Given the description of an element on the screen output the (x, y) to click on. 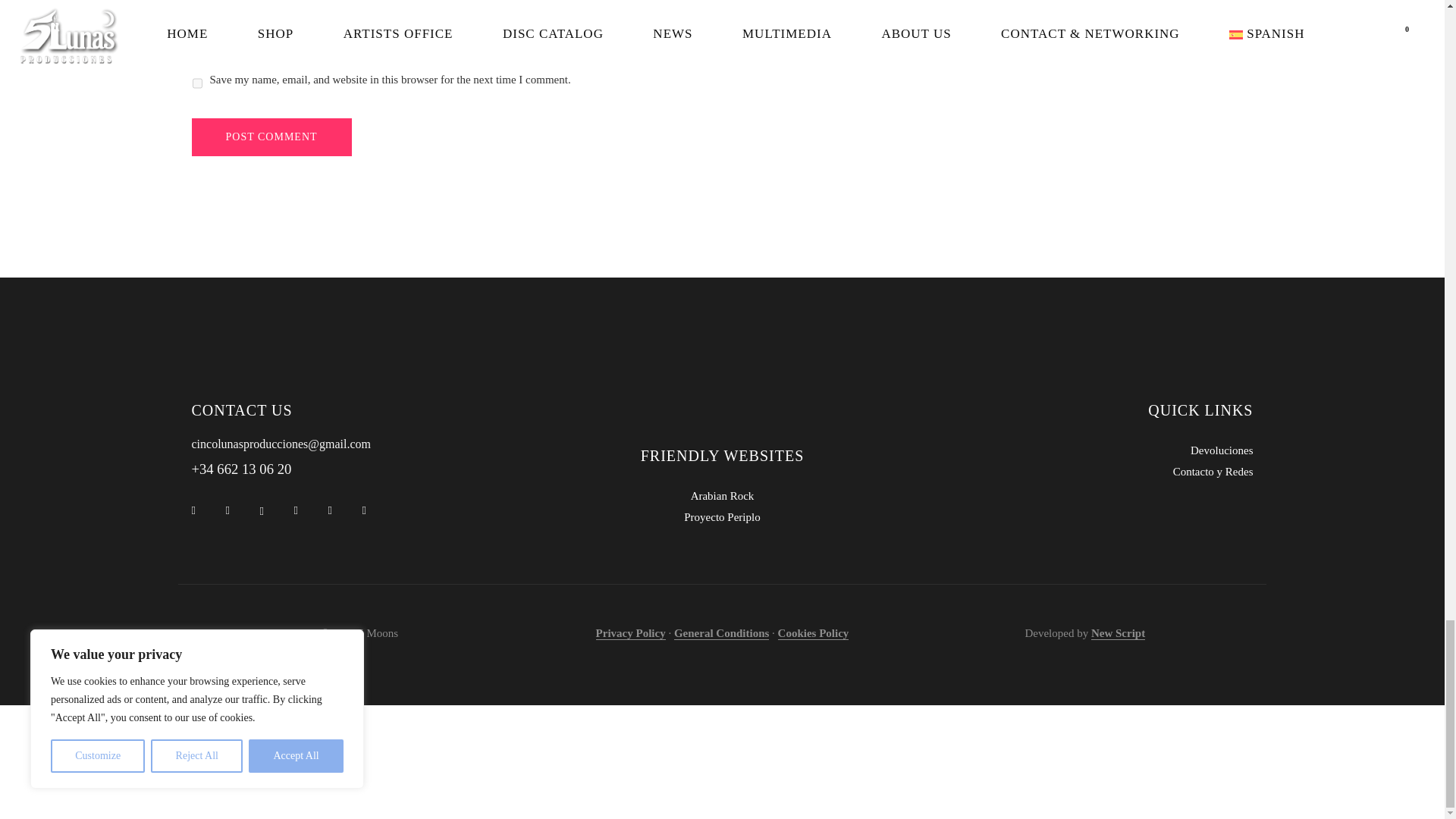
Post Comment (270, 136)
